Given the description of an element on the screen output the (x, y) to click on. 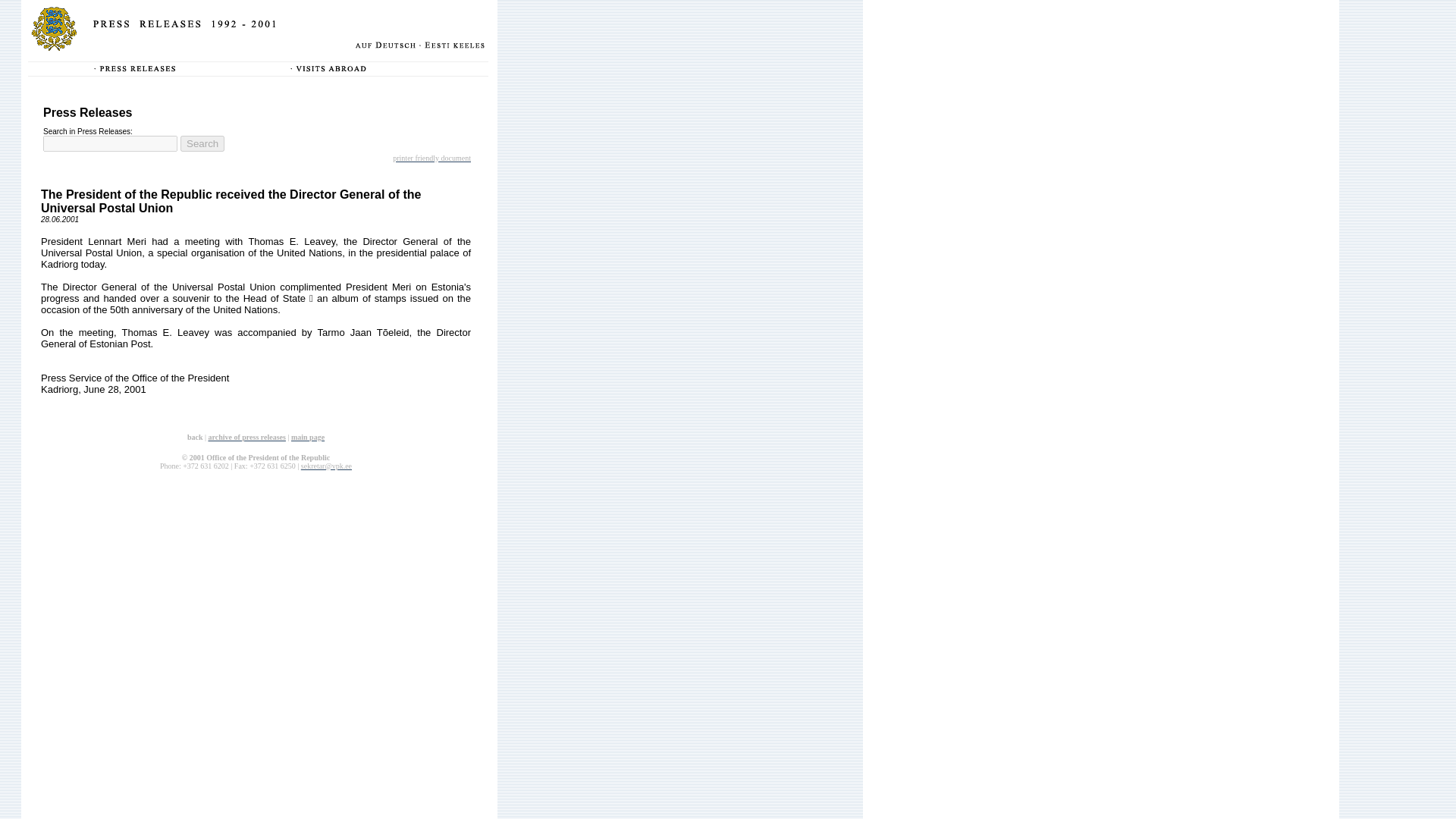
Search (202, 143)
back (195, 435)
Search (202, 143)
printer friendly document (431, 155)
archive of press releases (246, 437)
main page (307, 437)
